Given the description of an element on the screen output the (x, y) to click on. 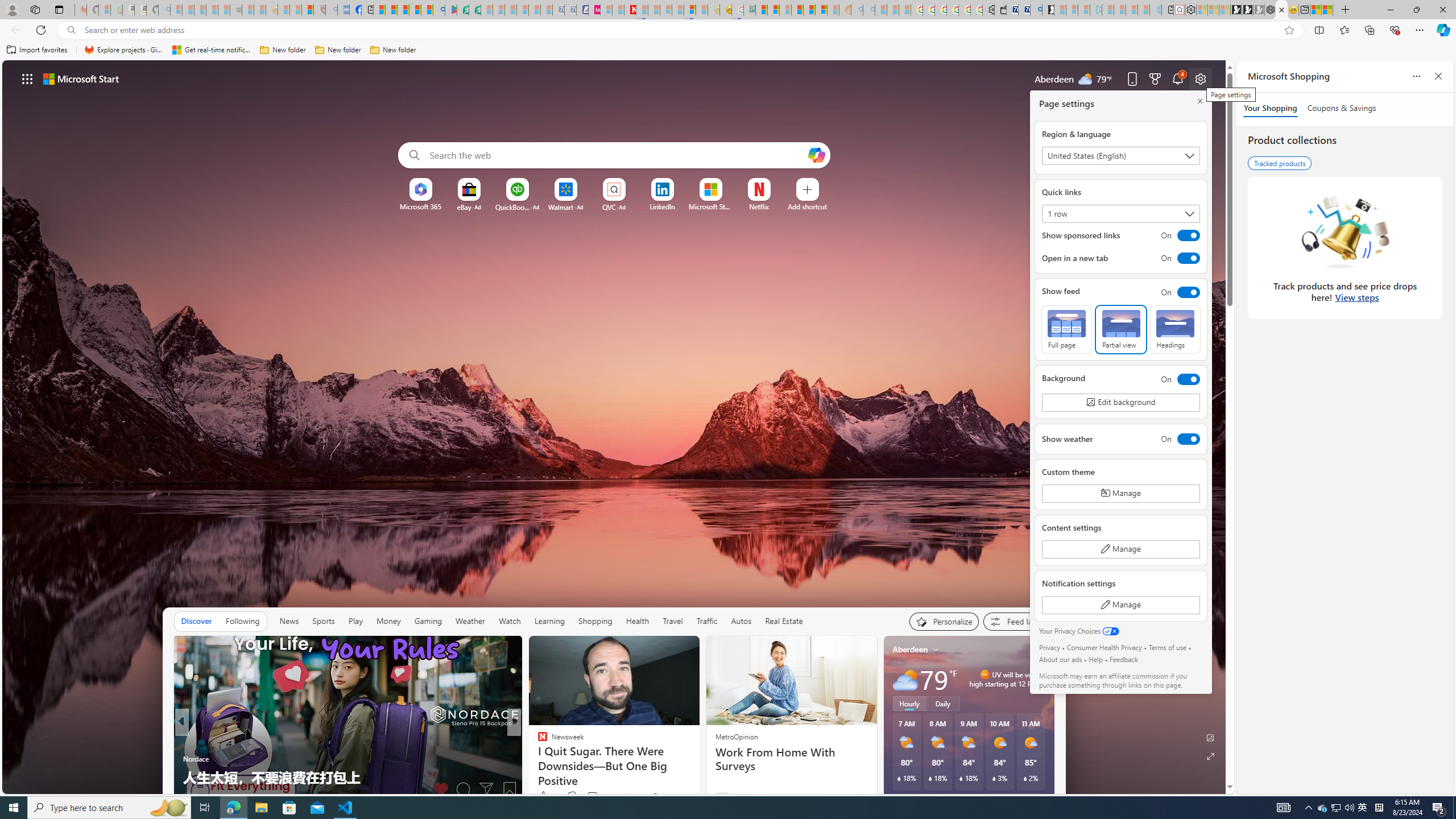
Open in a new tab On (1120, 257)
Shopping (594, 621)
1k Like (546, 795)
Class: weather-current-precipitation-glyph (1024, 778)
Jobs - lastminute.com Investor Portal (594, 9)
Latest Politics News & Archive | Newsweek.com (629, 9)
